Given the description of an element on the screen output the (x, y) to click on. 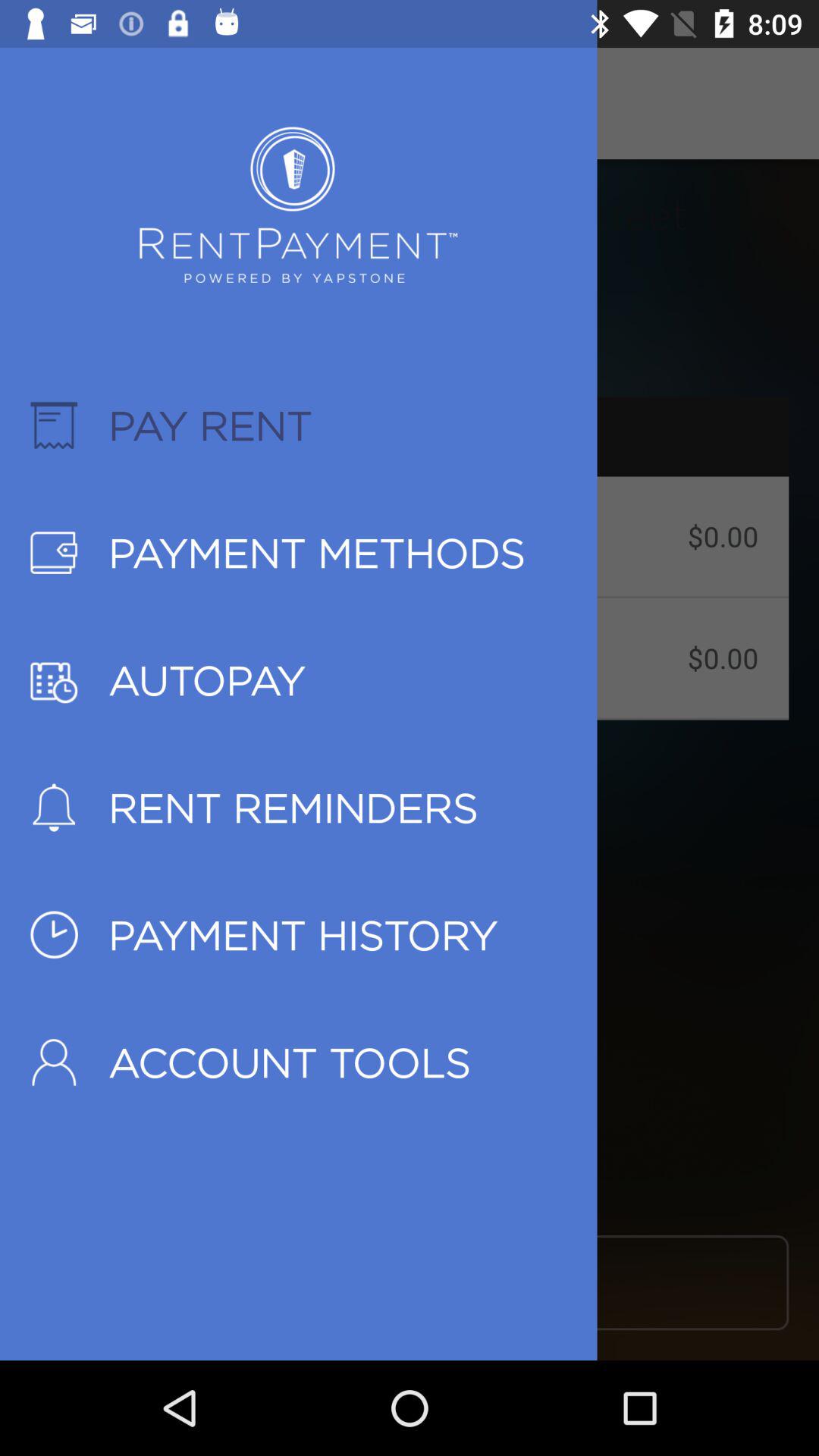
click on the second icon below pay rent (53, 552)
click on the last icon (53, 1062)
